Given the description of an element on the screen output the (x, y) to click on. 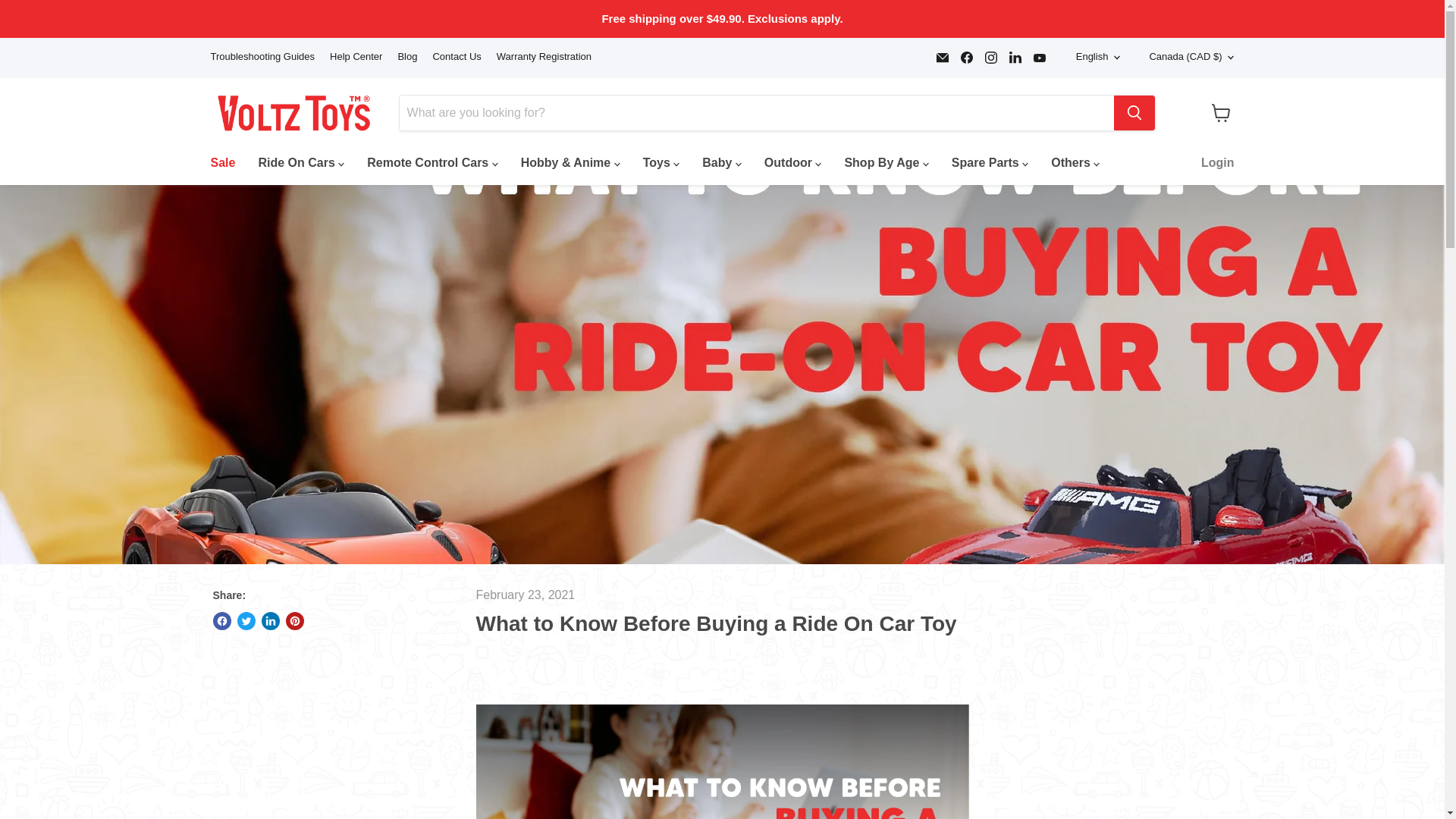
Find us on LinkedIn (1015, 56)
Help Center (355, 57)
Blog (406, 57)
Email (942, 56)
Troubleshooting Guides (263, 57)
Instagram (990, 56)
Find us on Instagram (990, 56)
Warranty Registration (543, 57)
Find us on YouTube (1039, 56)
English (1094, 56)
